Given the description of an element on the screen output the (x, y) to click on. 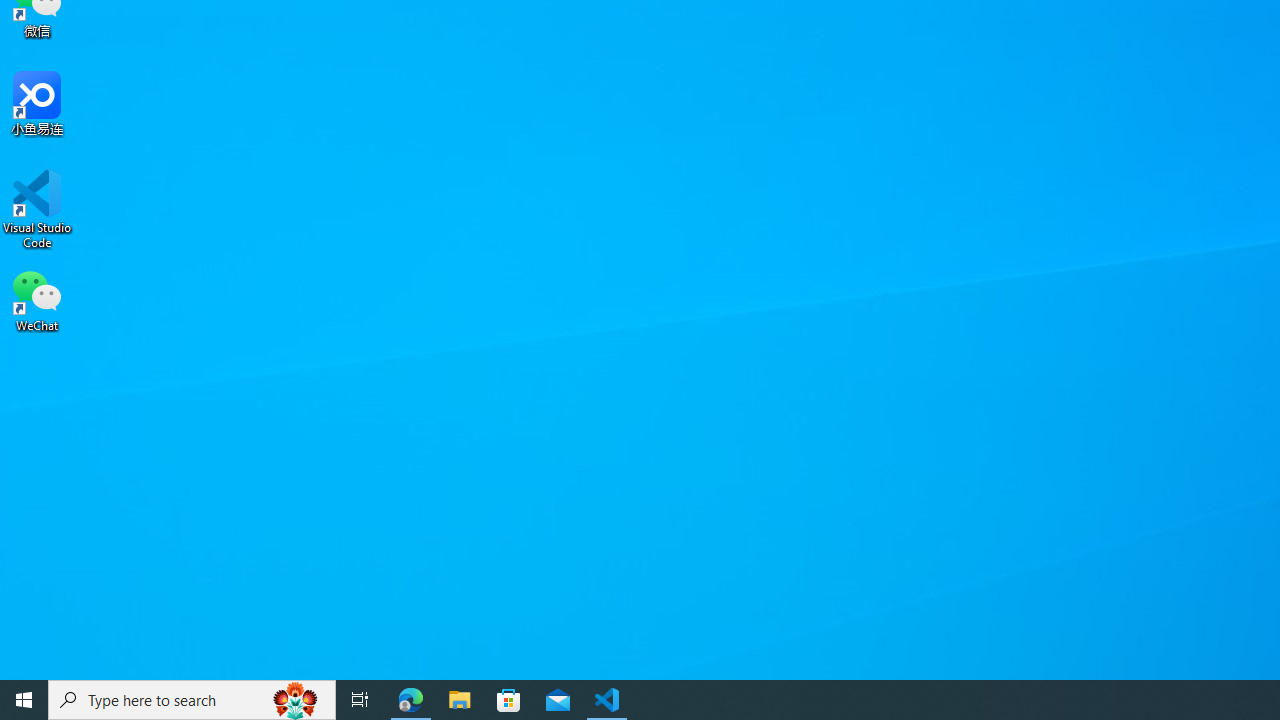
File Explorer (460, 699)
Task View (359, 699)
Type here to search (191, 699)
Search highlights icon opens search home window (295, 699)
Microsoft Store (509, 699)
Visual Studio Code - 1 running window (607, 699)
WeChat (37, 299)
Microsoft Edge - 1 running window (411, 699)
Visual Studio Code (37, 209)
Start (24, 699)
